Given the description of an element on the screen output the (x, y) to click on. 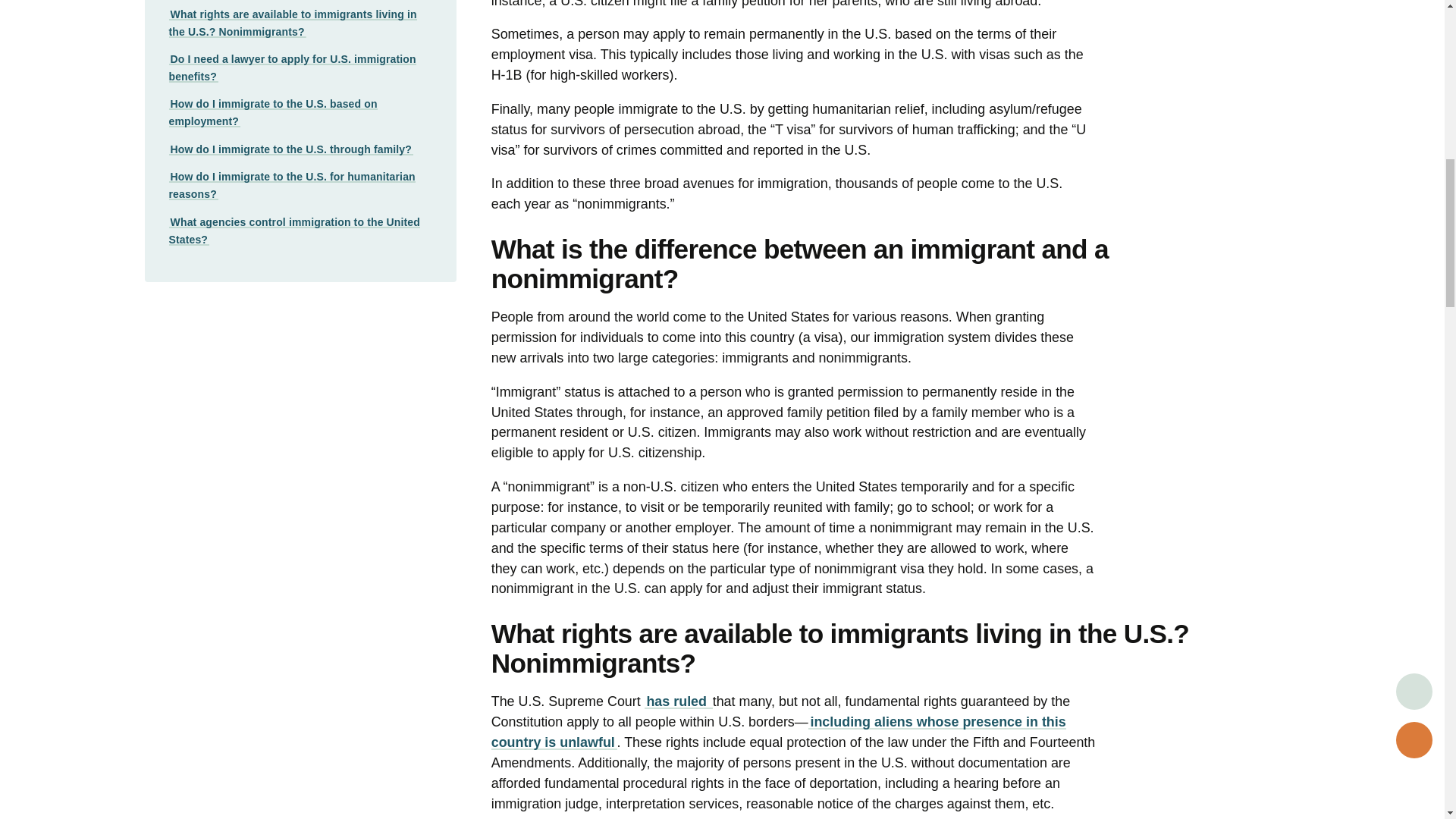
How do I immigrate to the U.S. for humanitarian reasons? (291, 184)
How do I immigrate to the U.S. through family? (290, 149)
What agencies control immigration to the United States? (293, 230)
including aliens whose presence in this country is unlawful (778, 732)
Do I need a lawyer to apply for U.S. immigration benefits? (291, 67)
has ruled (679, 701)
How do I immigrate to the U.S. based on employment? (272, 112)
